Given the description of an element on the screen output the (x, y) to click on. 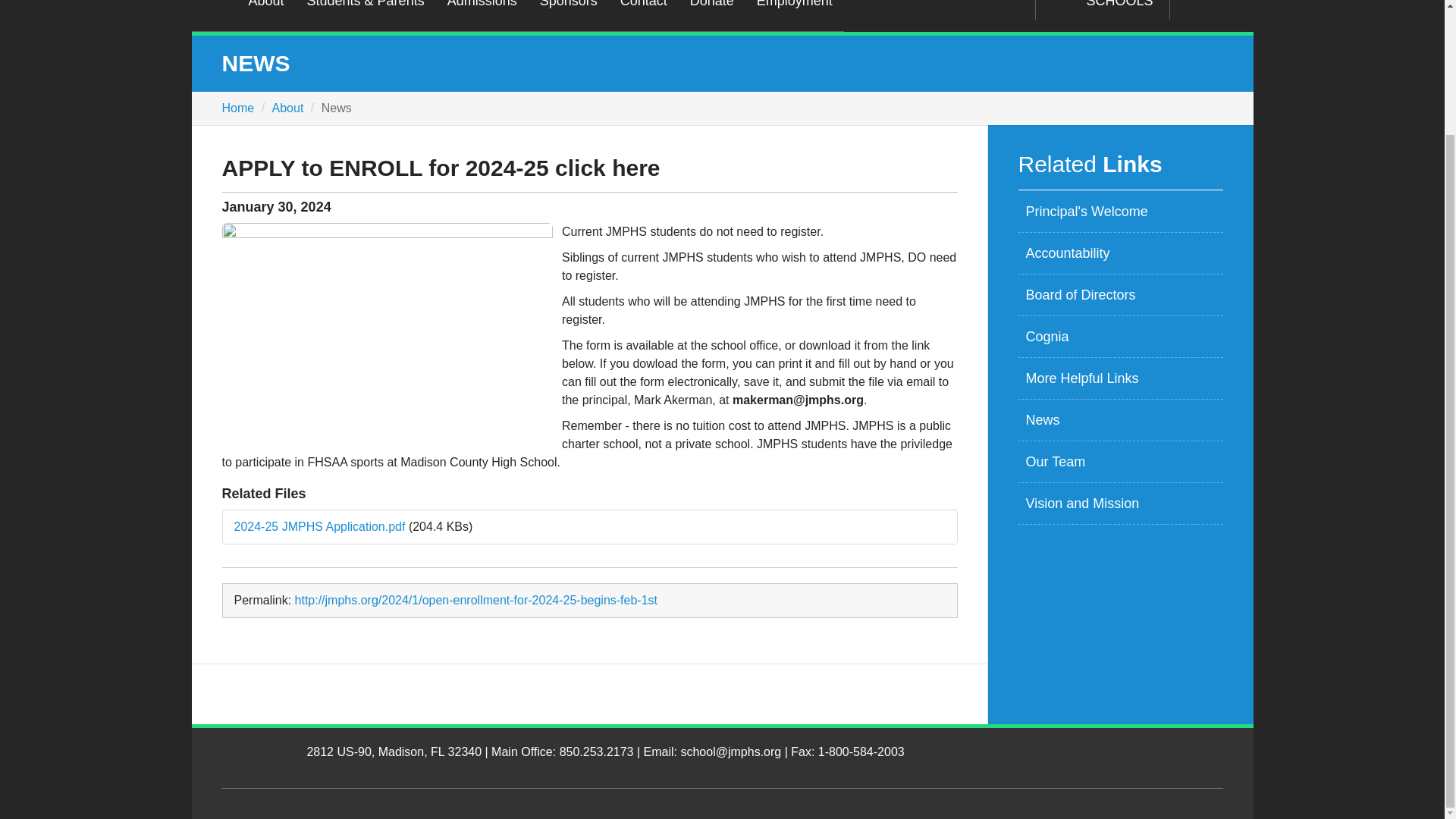
Employment (794, 15)
Home (212, 15)
Admissions (481, 15)
Sponsors (568, 15)
About (265, 15)
Contact (643, 15)
SCHOOLS (1102, 9)
Donate (711, 15)
